Given the description of an element on the screen output the (x, y) to click on. 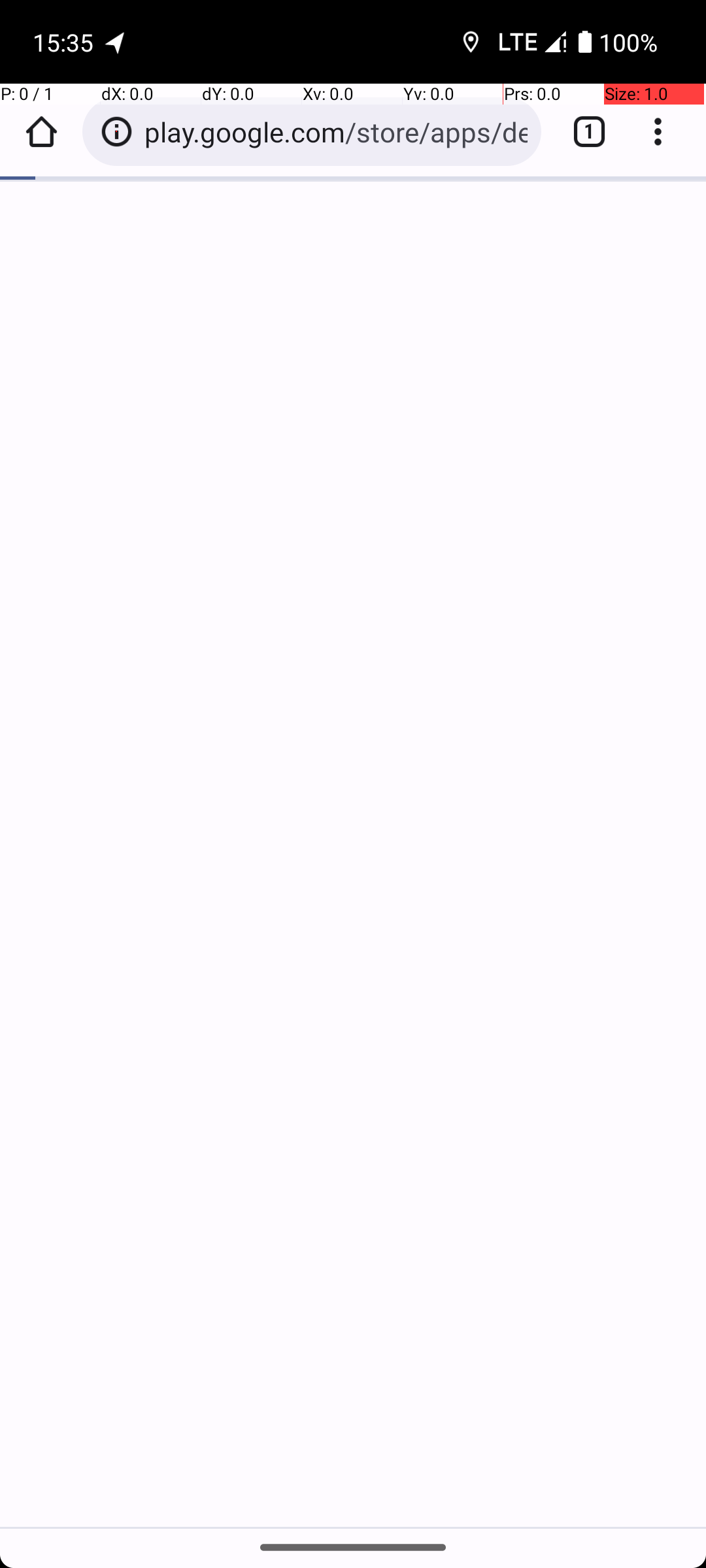
play.google.com/store/apps/details?id=com.google.android.apps.tachyon Element type: android.widget.EditText (335, 131)
